Given the description of an element on the screen output the (x, y) to click on. 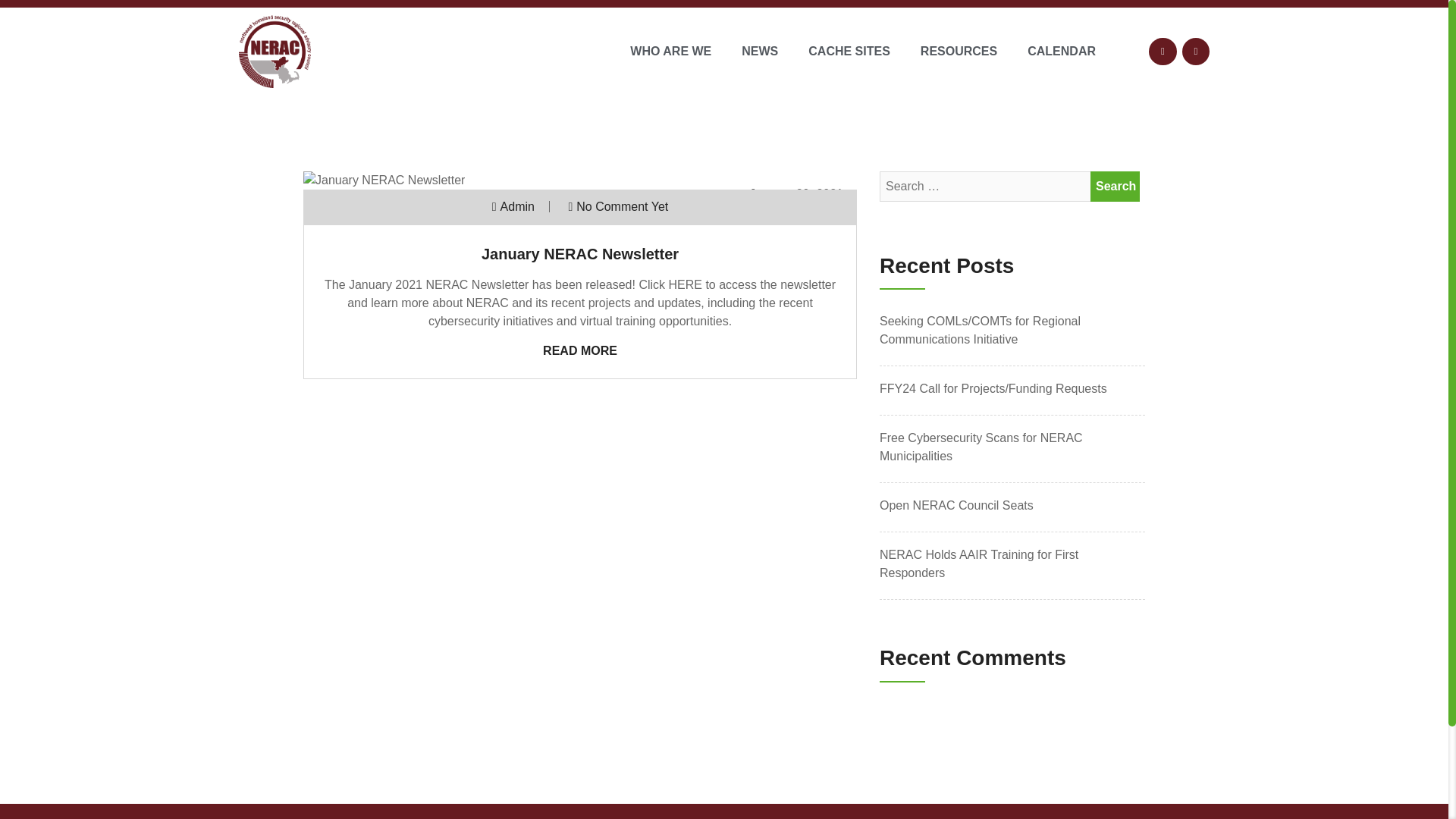
January 29, 2021 (796, 193)
Admin (517, 205)
NEWS (759, 51)
WHO ARE WE (670, 51)
CACHE SITES (849, 51)
Search (1115, 186)
READ MORE (580, 350)
CALENDAR (1060, 51)
Search (1115, 186)
Open NERAC Council Seats (1011, 505)
